Given the description of an element on the screen output the (x, y) to click on. 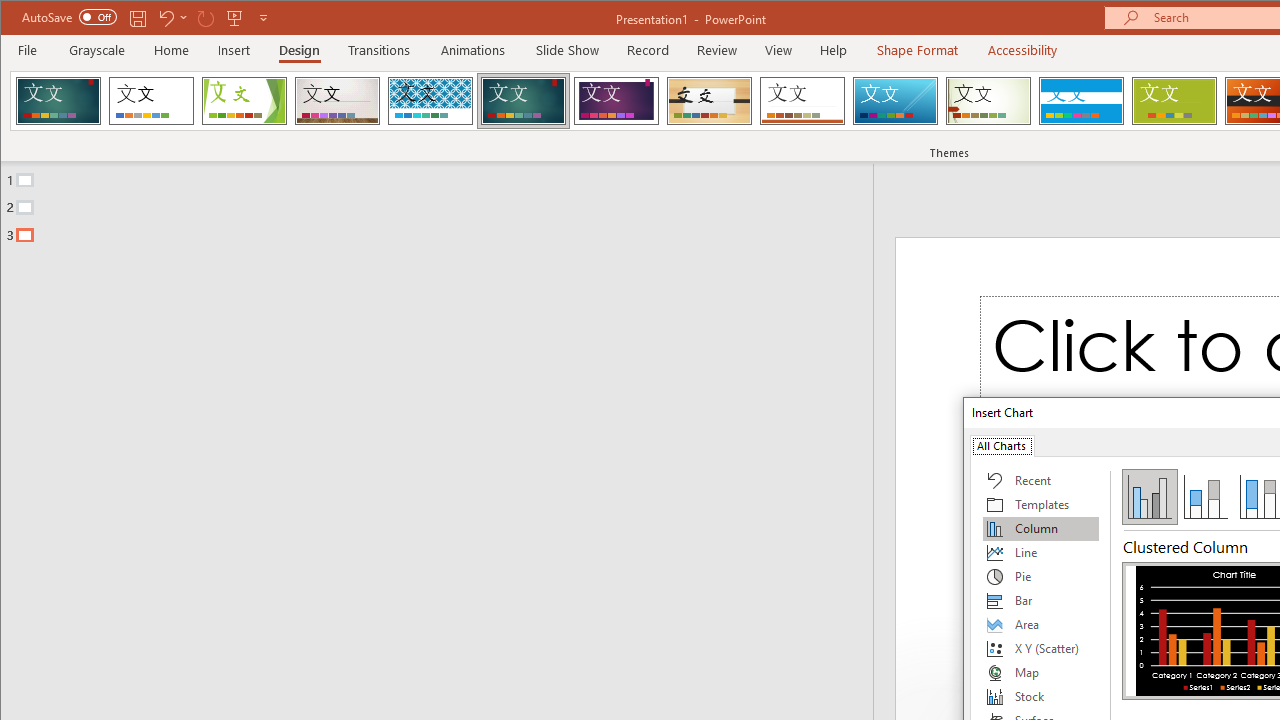
Slice (895, 100)
Grayscale (97, 50)
X Y (Scatter) (1041, 648)
Pie (1041, 576)
Organic (709, 100)
Ion Boardroom (616, 100)
Office Theme (151, 100)
Integral (430, 100)
